Given the description of an element on the screen output the (x, y) to click on. 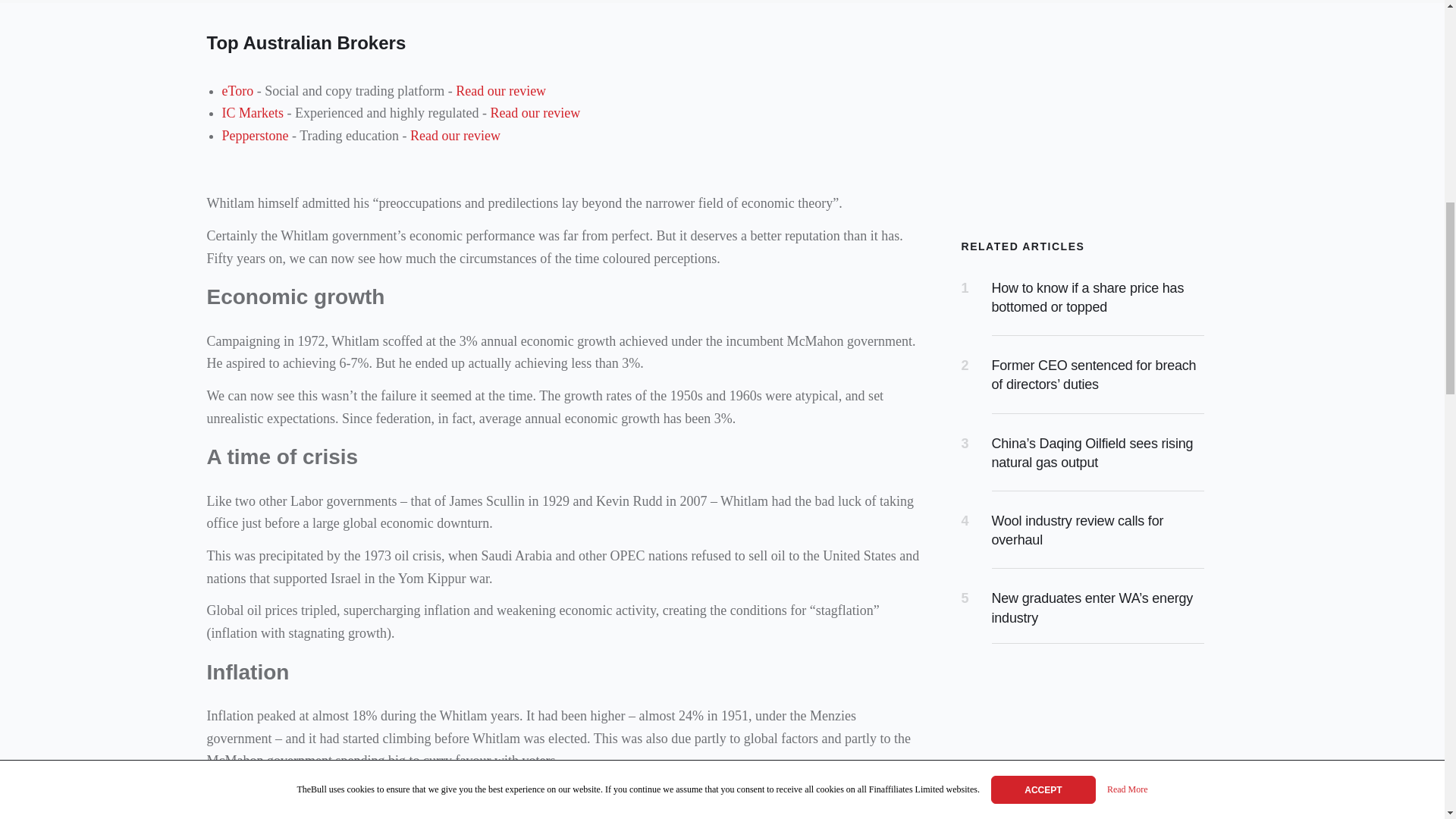
How to know if a share price has bottomed or topped (1088, 297)
Pepperstone (254, 135)
How to know if a share price has bottomed or topped (1088, 297)
Read our review (500, 90)
Read our review (534, 112)
Wool industry review calls for overhaul (1077, 530)
Wool industry review calls for overhaul (1077, 530)
Read our review (455, 135)
eToro (237, 90)
IC Markets (251, 112)
